Given the description of an element on the screen output the (x, y) to click on. 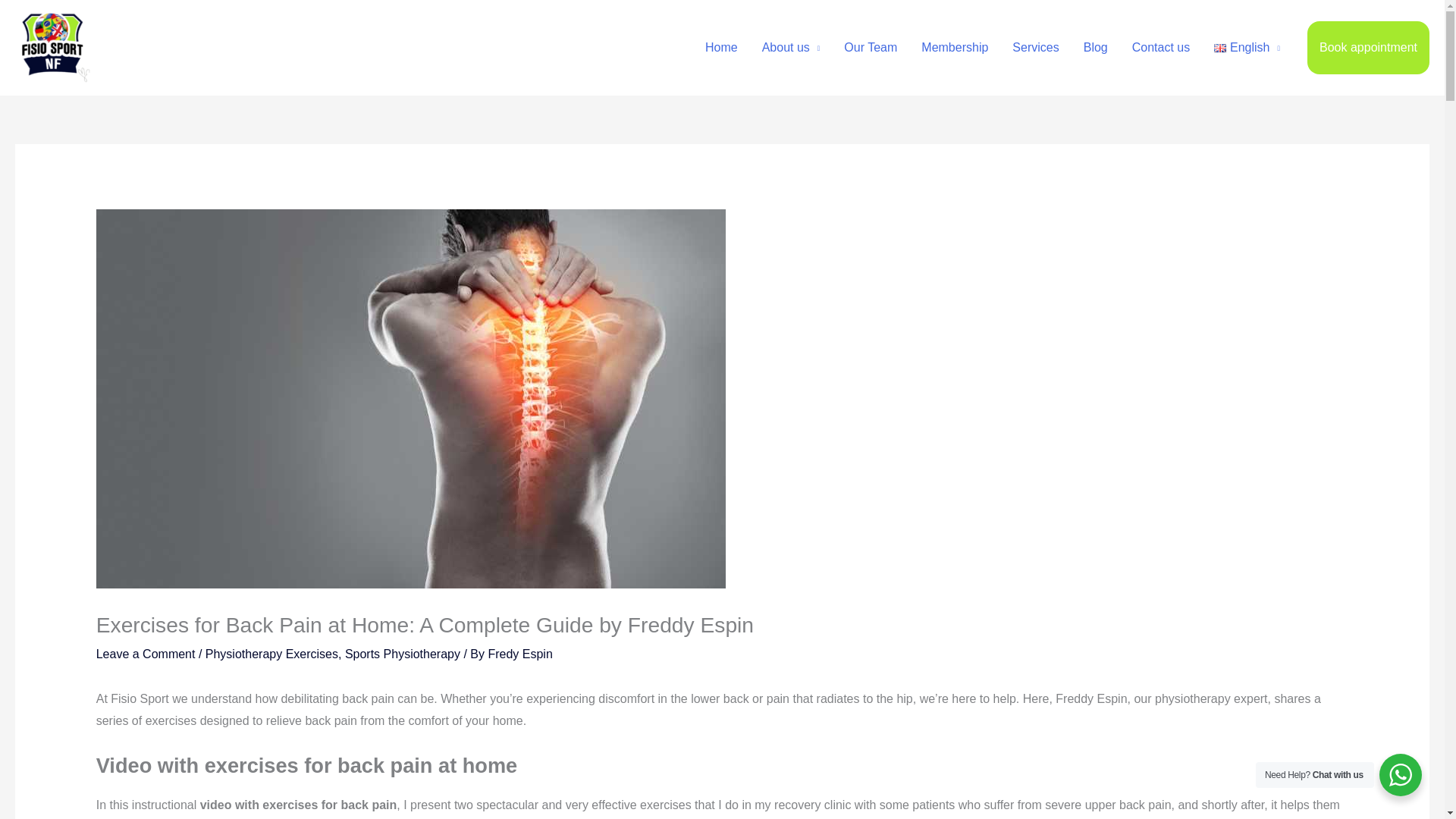
Our Team (869, 47)
Services (1035, 47)
Home (721, 47)
Membership (954, 47)
Sports Physiotherapy (402, 653)
View all posts by Fredy Espin (519, 653)
Contact us (1160, 47)
About us (790, 47)
Book appointment (1368, 47)
Fredy Espin (519, 653)
Physiotherapy Exercises (271, 653)
Blog (1095, 47)
Leave a Comment (145, 653)
English (1247, 47)
